Given the description of an element on the screen output the (x, y) to click on. 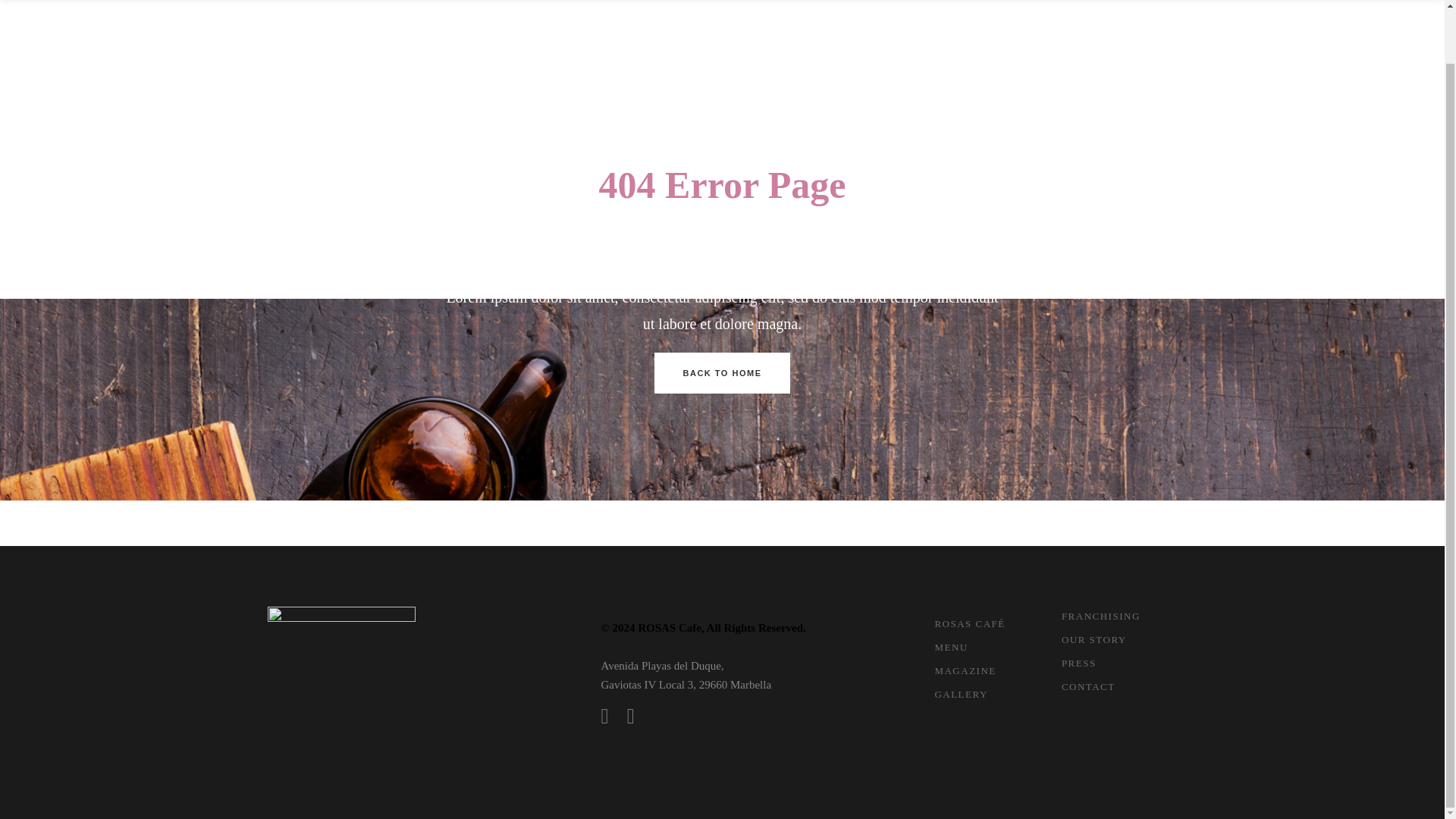
MENU (918, 10)
MAGAZINE (992, 10)
FRANCHISING (1232, 10)
CONTACT (1381, 10)
PETS (1312, 10)
U (983, 354)
PRESS (1148, 10)
GALLERY (1077, 10)
HOME (857, 10)
